Given the description of an element on the screen output the (x, y) to click on. 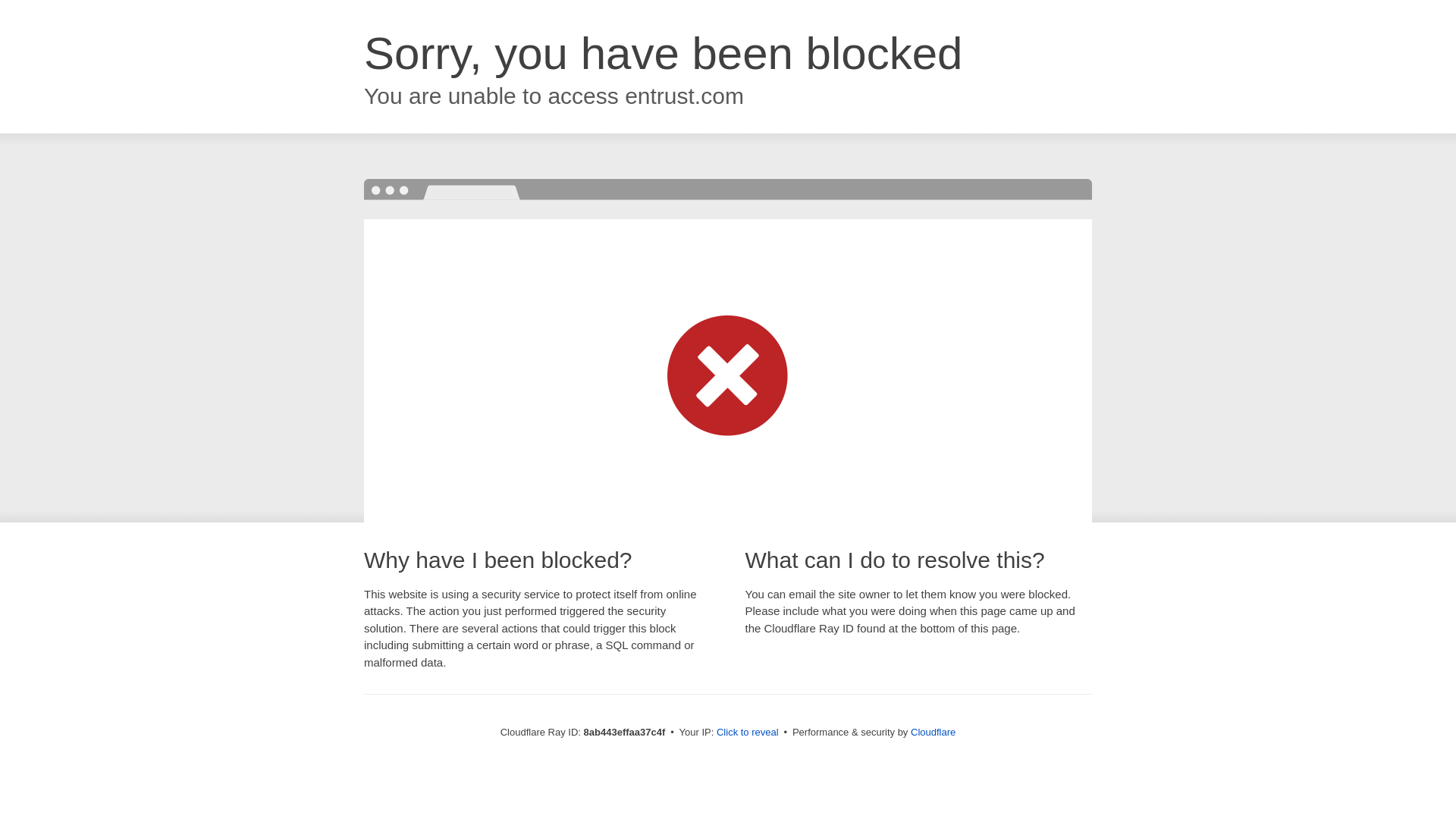
Cloudflare (933, 731)
Click to reveal (747, 732)
